Given the description of an element on the screen output the (x, y) to click on. 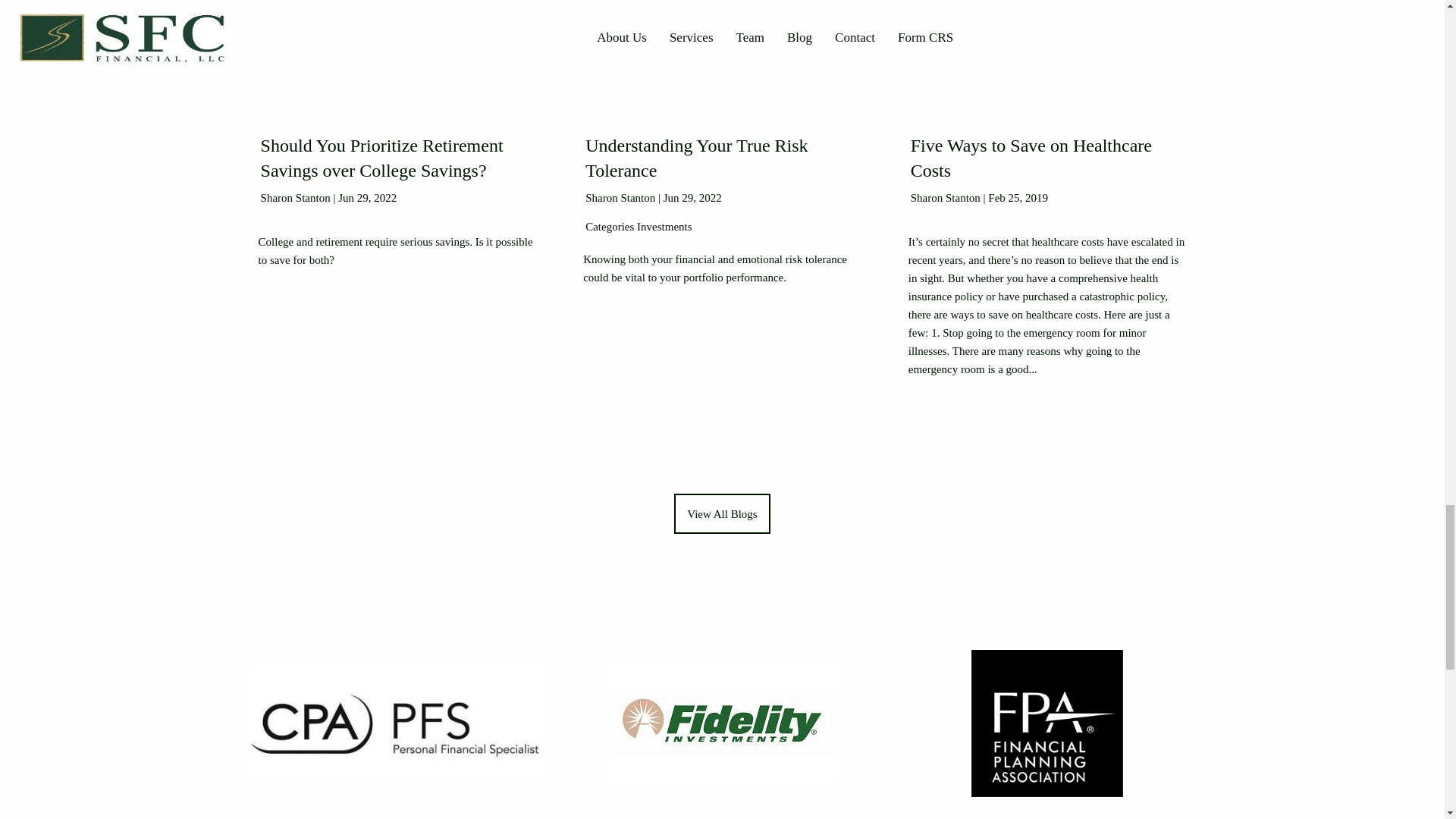
Understanding Your True Risk Tolerance (696, 160)
View All Blogs (722, 515)
Five Ways to Save on Healthcare Costs (1031, 160)
